Given the description of an element on the screen output the (x, y) to click on. 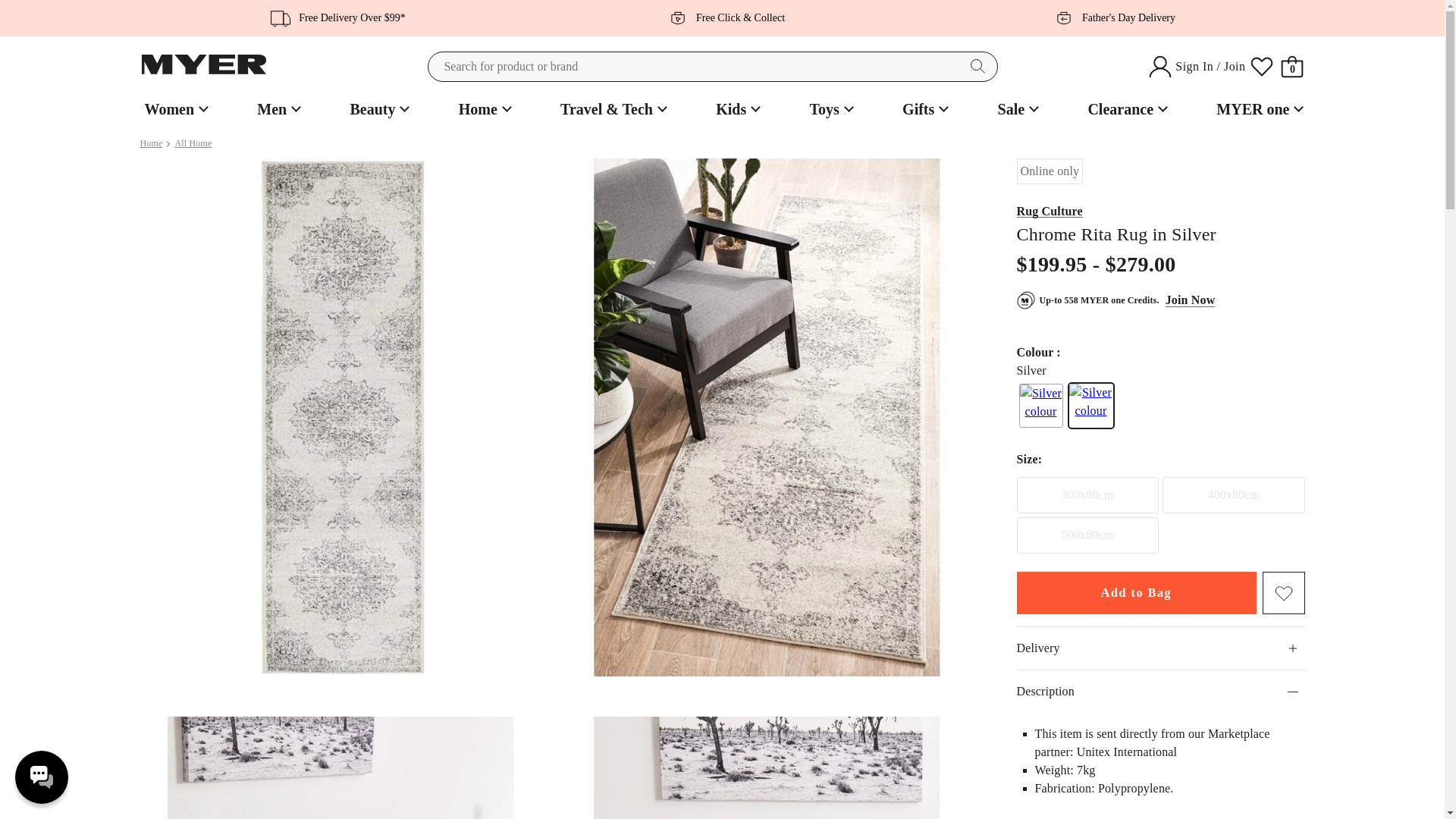
0 (1291, 66)
Click here to toggle the virtual assistant (41, 777)
Women (174, 109)
Father's Day Delivery (1110, 17)
